Given the description of an element on the screen output the (x, y) to click on. 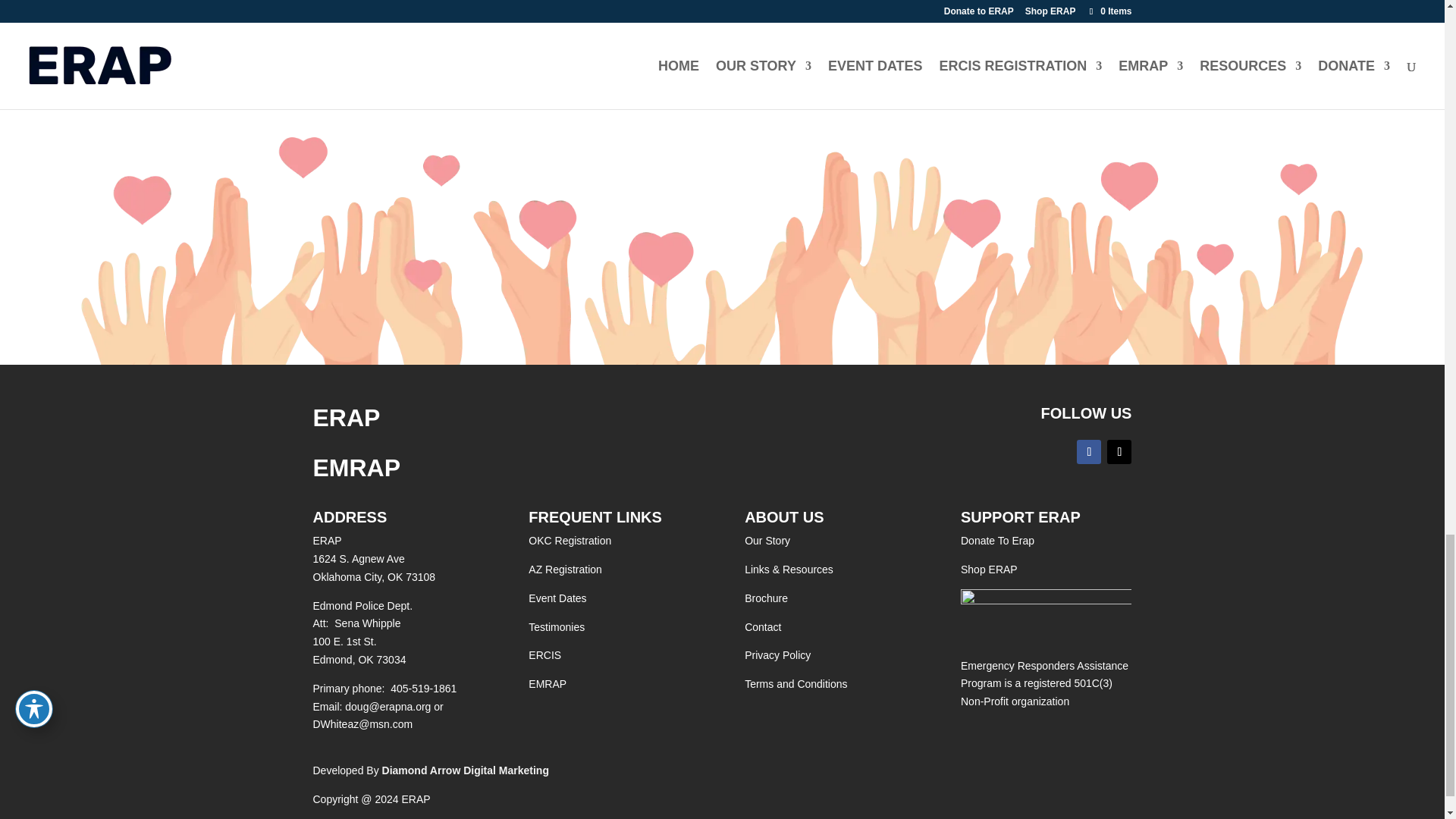
Testimonies (556, 626)
Brochure (765, 598)
Follow on Facebook (1088, 451)
EMRAP (547, 684)
Contact (762, 626)
OKC Registration (569, 540)
AZ Registration (564, 569)
Privacy Policy (777, 654)
Terms and Conditions (795, 684)
Follow on X (1118, 451)
